Given the description of an element on the screen output the (x, y) to click on. 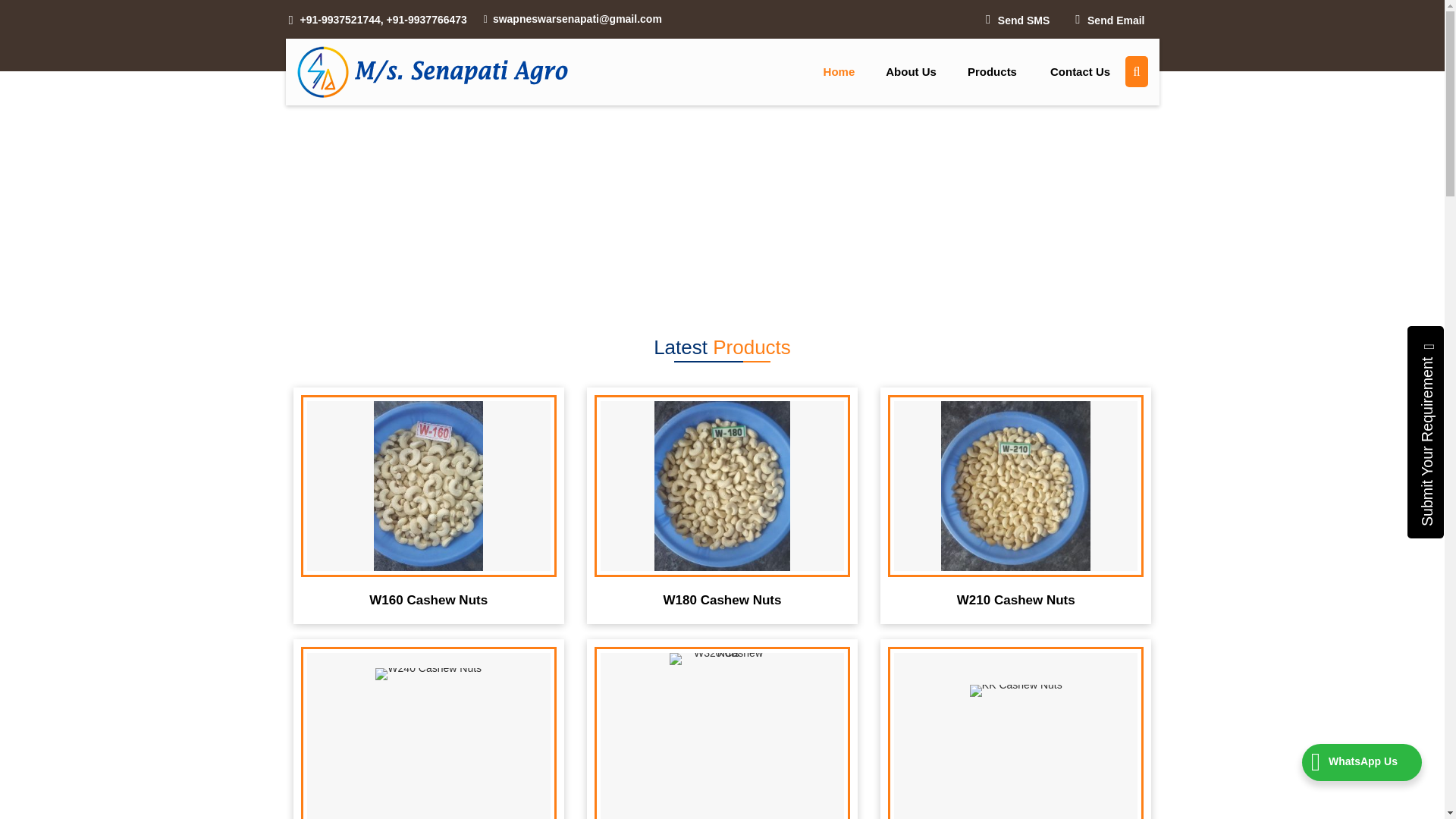
View More (464, 518)
W180 Cashew Nuts (722, 596)
About Us (911, 71)
Send Email (1110, 19)
Send SMS (1017, 19)
Products (992, 71)
Products (992, 71)
W160 Cashew Nuts (428, 596)
W160 Cashew Nuts (486, 513)
Home (839, 71)
About Us (911, 71)
Contact Us (1080, 71)
Enquiry Now (469, 518)
Home (839, 71)
